Given the description of an element on the screen output the (x, y) to click on. 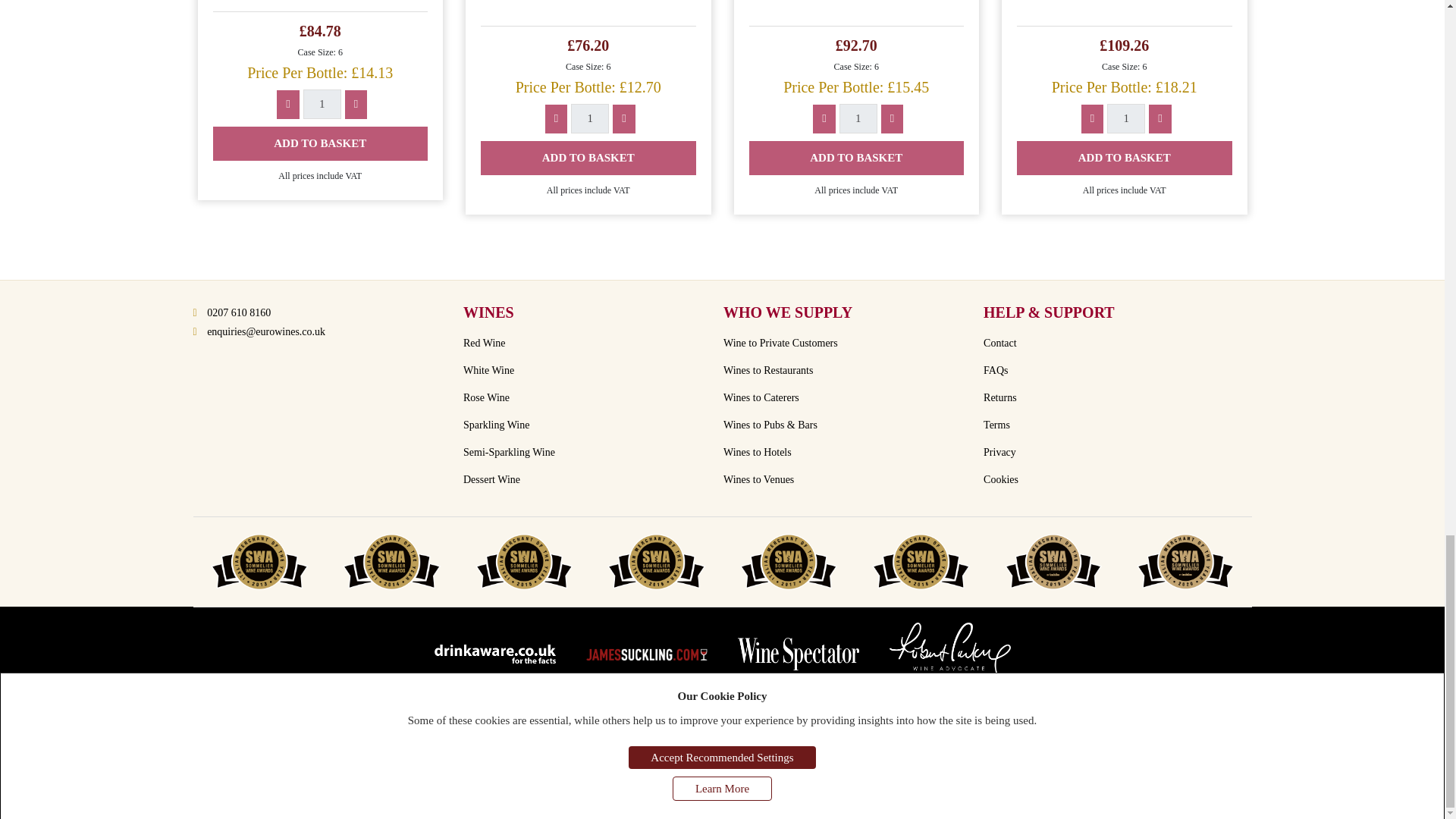
1 (589, 118)
website design by diginow (721, 795)
1 (858, 118)
1 (1125, 118)
1 (321, 103)
